Given the description of an element on the screen output the (x, y) to click on. 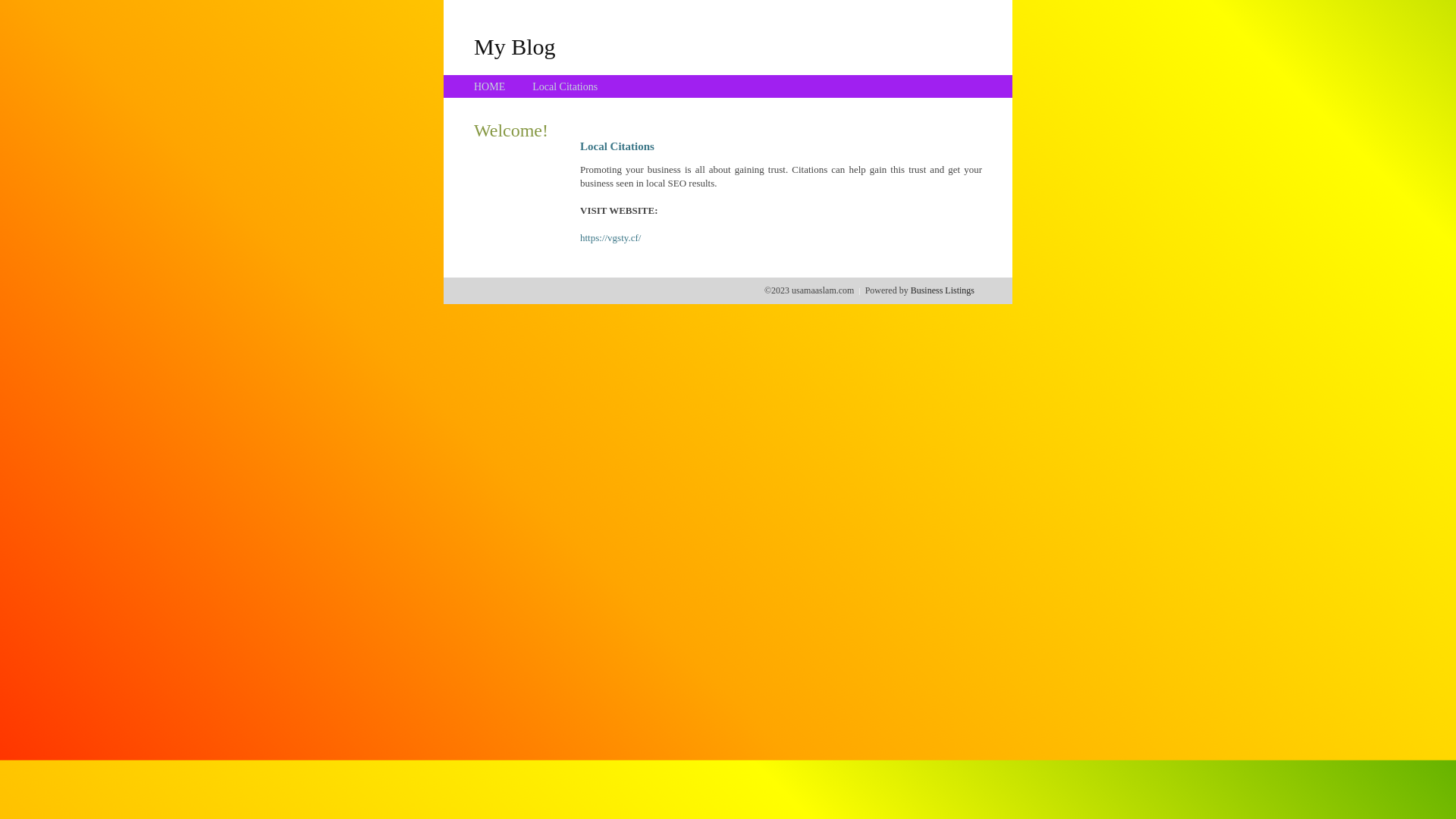
https://vgsty.cf/ Element type: text (610, 237)
My Blog Element type: text (514, 46)
HOME Element type: text (489, 86)
Business Listings Element type: text (942, 290)
Local Citations Element type: text (564, 86)
